Given the description of an element on the screen output the (x, y) to click on. 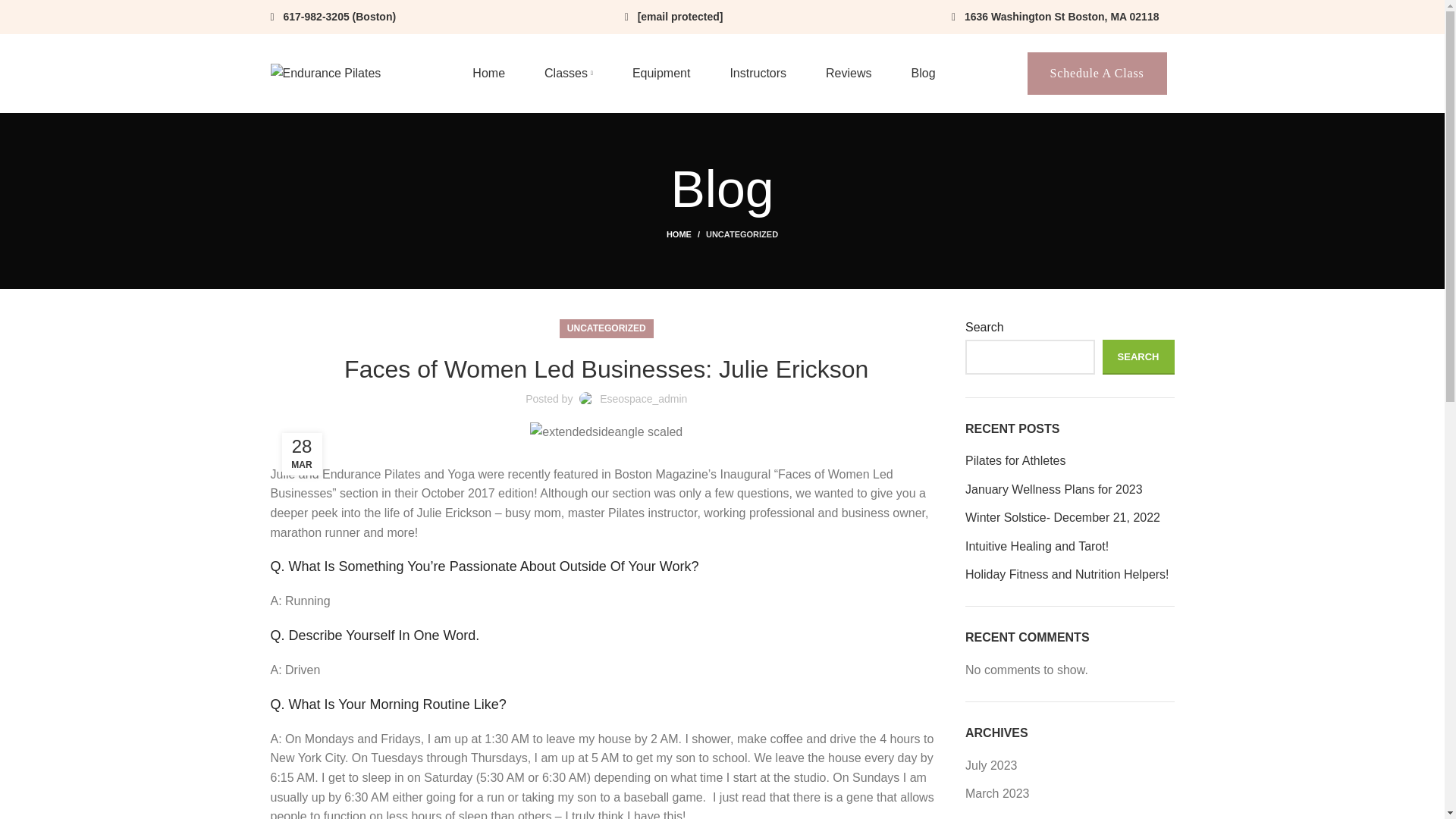
Equipment (661, 73)
July 2023 (991, 764)
Winter Solstice- December 21, 2022 (1069, 517)
Home (488, 73)
UNCATEGORIZED (606, 328)
617-982-3205 (316, 16)
Instructors (757, 73)
HOME (686, 234)
Blog (923, 73)
Intuitive Healing and Tarot! (1069, 546)
